Given the description of an element on the screen output the (x, y) to click on. 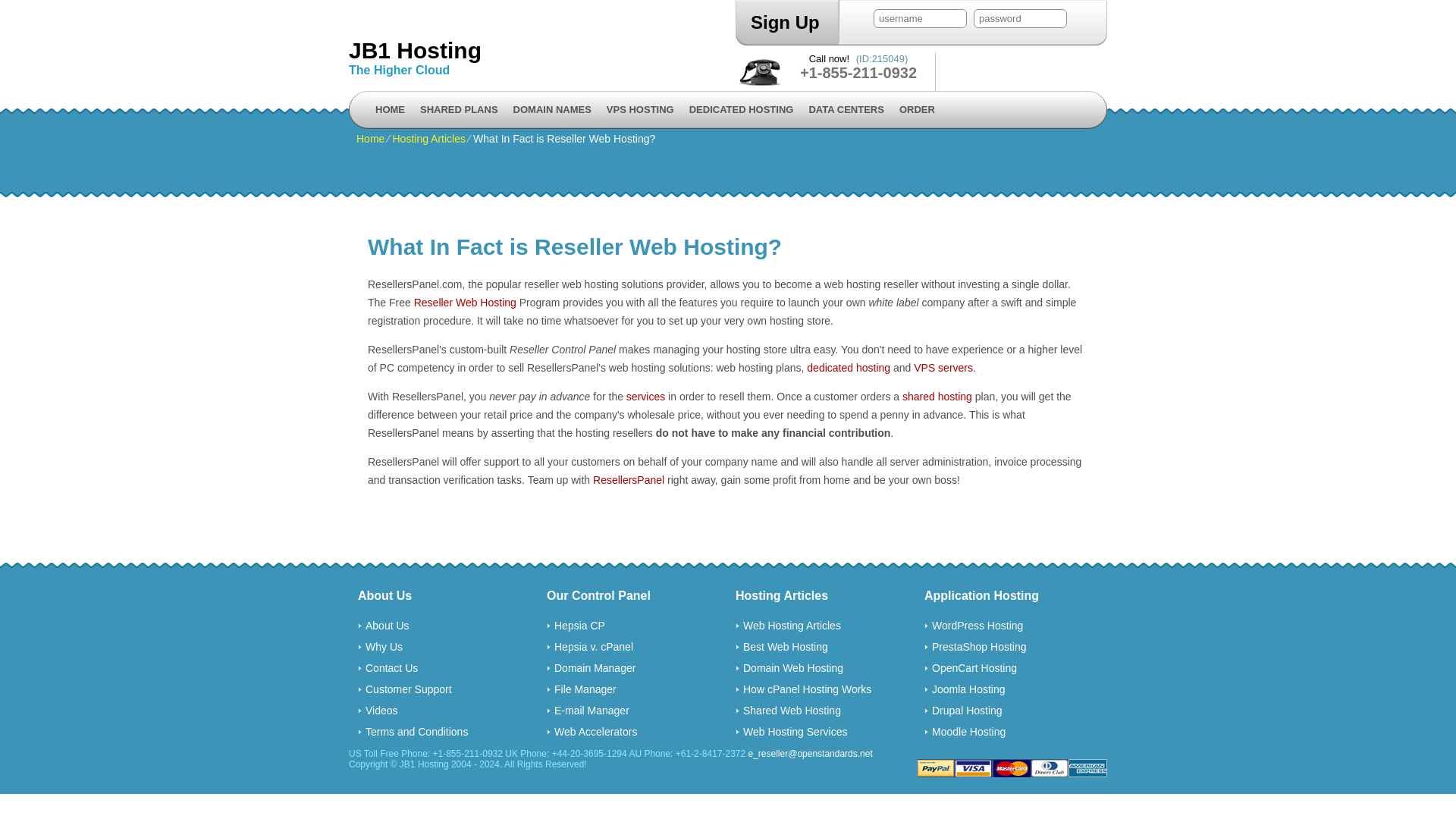
DEDICATED HOSTING (741, 109)
Home (370, 138)
HOME (390, 109)
JB1 Hosting (538, 50)
DATA CENTERS (845, 109)
Sign Up (785, 22)
dedicated hosting (847, 367)
Contact Us (391, 667)
